Given the description of an element on the screen output the (x, y) to click on. 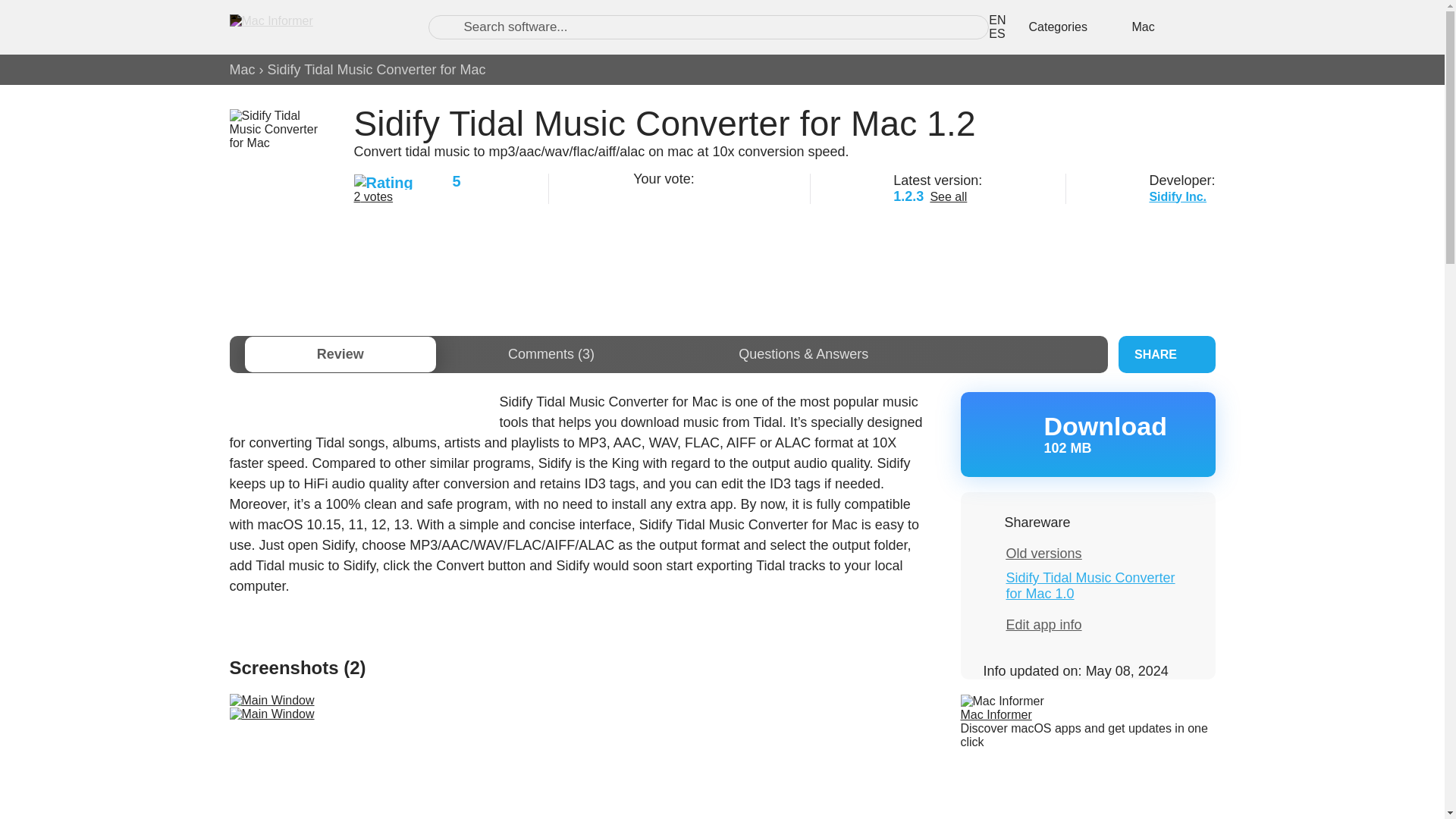
Sidify Inc. (1177, 195)
2 (659, 193)
Sidify Tidal Music Converter for Mac 1.0 (1090, 585)
Software downloads and reviews (312, 26)
SHARE (1166, 354)
See all (948, 195)
Download Sidify Tidal Music Converter for Mac (1086, 434)
Review (1086, 434)
